Given the description of an element on the screen output the (x, y) to click on. 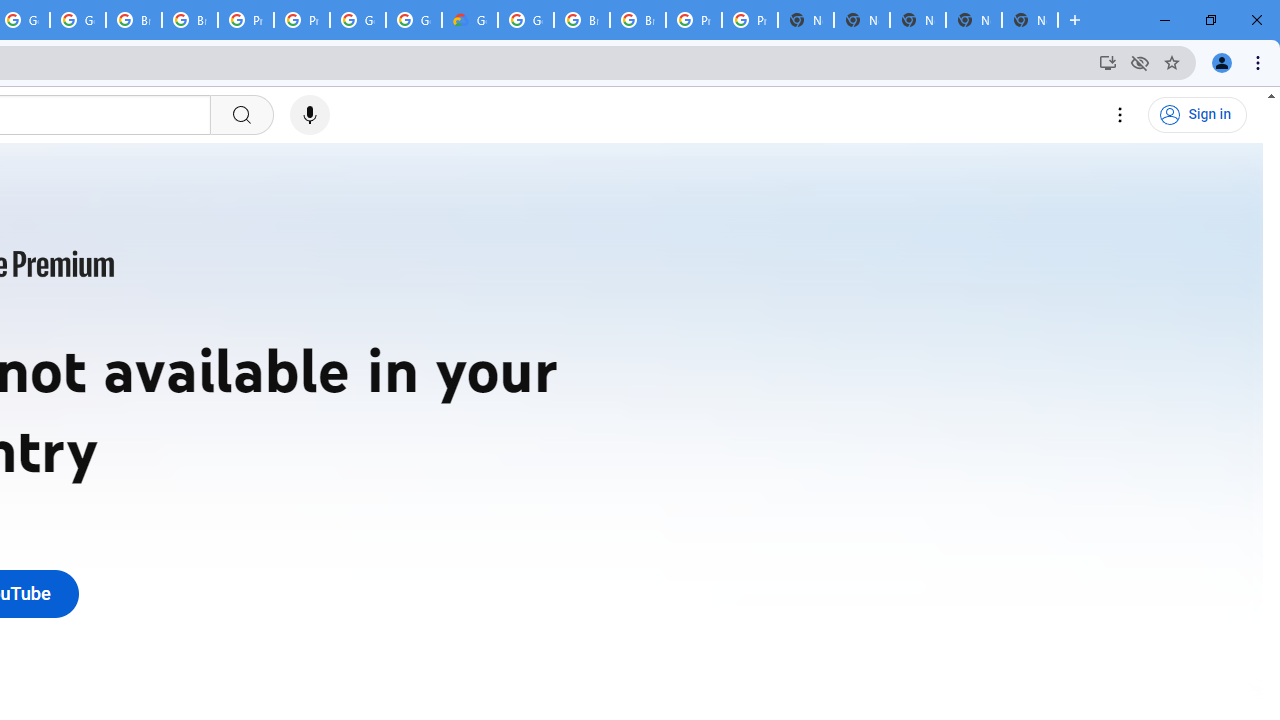
Google Cloud Platform (413, 20)
Browse Chrome as a guest - Computer - Google Chrome Help (134, 20)
Browse Chrome as a guest - Computer - Google Chrome Help (582, 20)
Install YouTube (1107, 62)
